Given the description of an element on the screen output the (x, y) to click on. 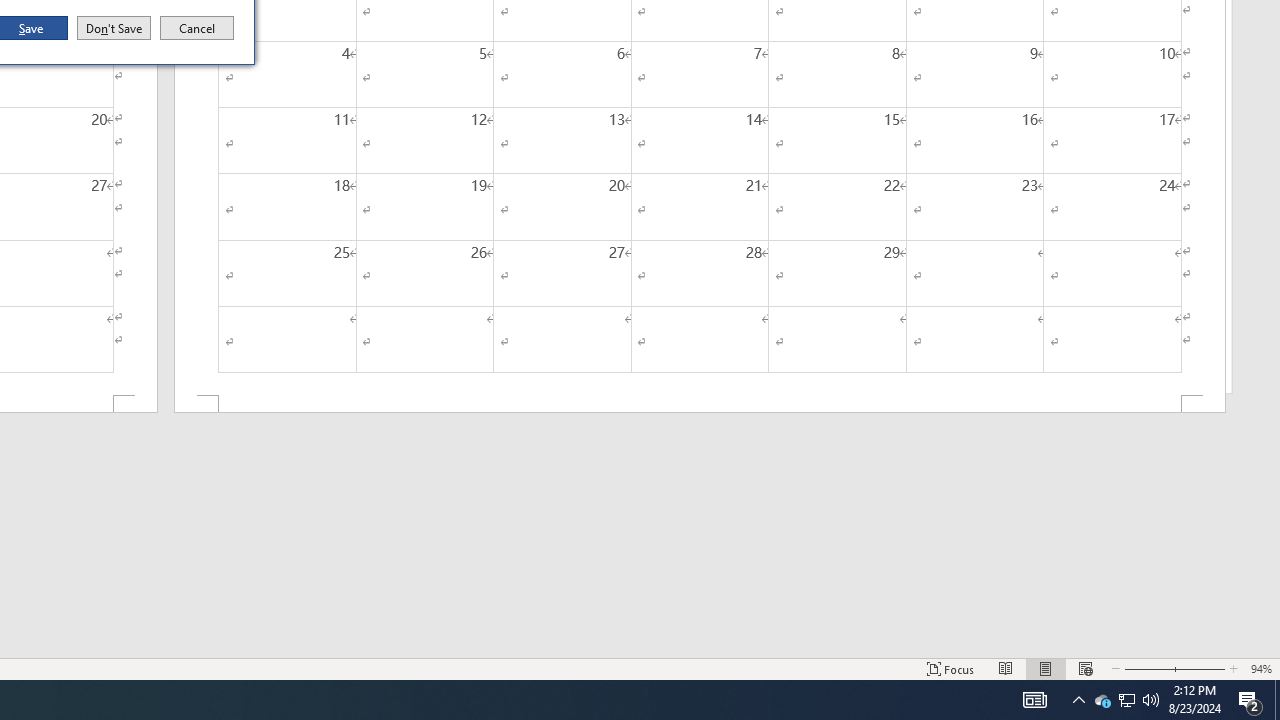
AutomationID: 4105 (1034, 699)
Q2790: 100% (1151, 699)
User Promoted Notification Area (1126, 699)
Footer -Section 2- (1126, 699)
Cancel (700, 404)
Action Center, 2 new notifications (197, 27)
Notification Chevron (1250, 699)
